Given the description of an element on the screen output the (x, y) to click on. 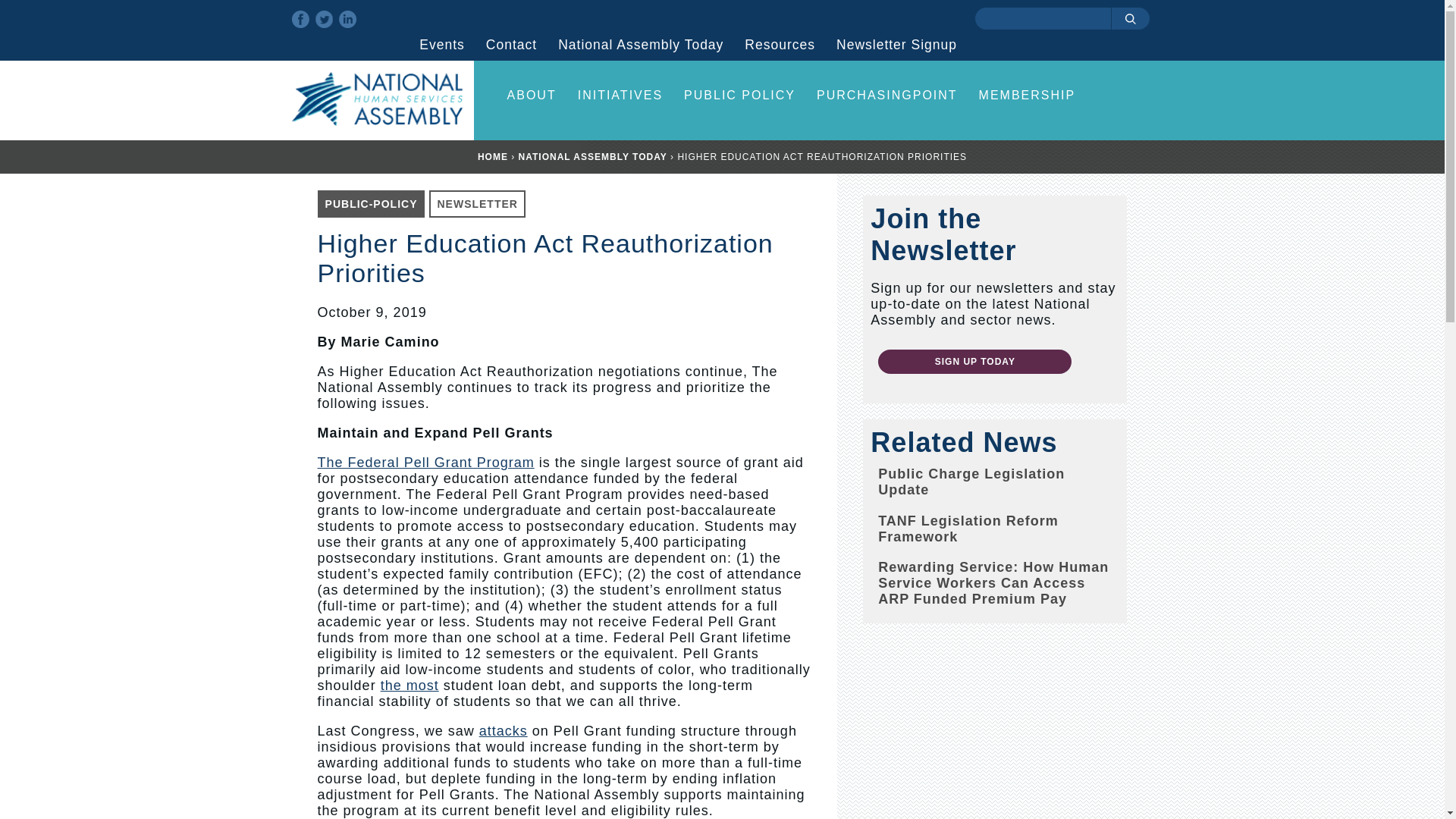
Contact (511, 44)
Newsletter Signup (895, 44)
Twitter (324, 18)
ABOUT (532, 94)
Linkedin (346, 18)
Resources (779, 44)
Facebook (299, 18)
National Assembly Today (640, 44)
INITIATIVES (620, 94)
Events (441, 44)
